Given the description of an element on the screen output the (x, y) to click on. 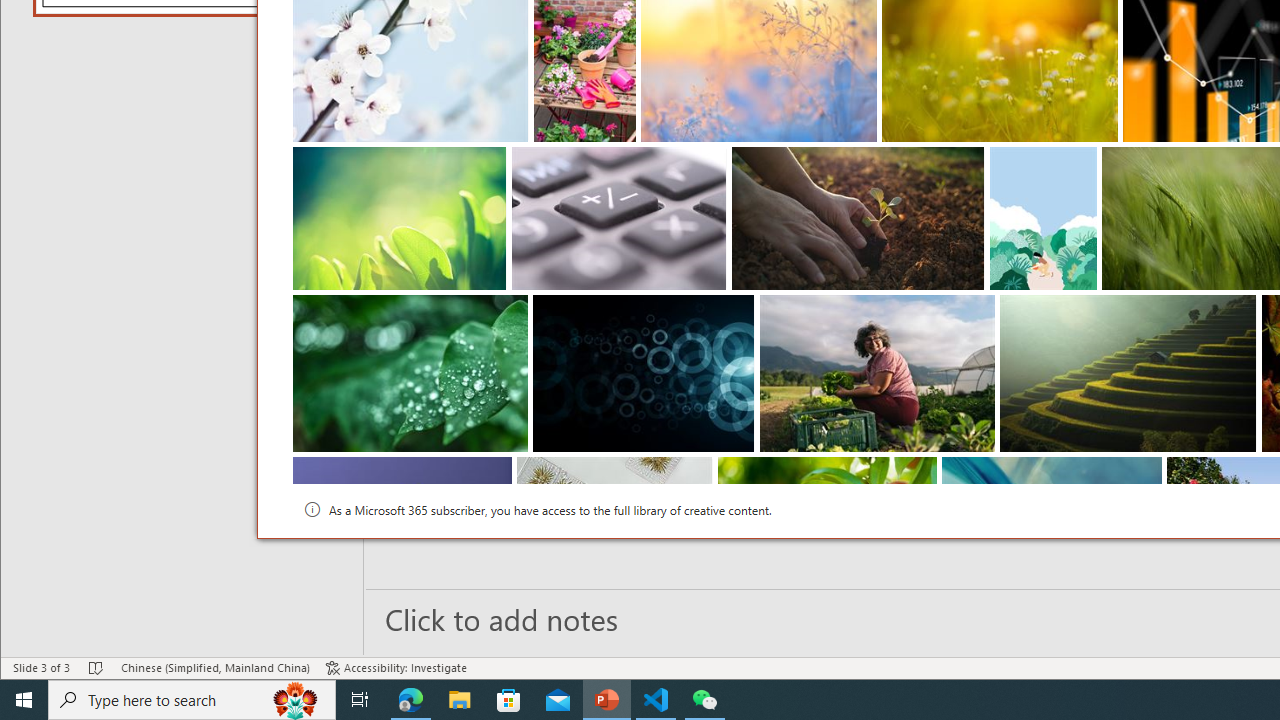
Task View (359, 699)
Start (24, 699)
File Explorer (460, 699)
Microsoft Edge - 1 running window (411, 699)
Search highlights icon opens search home window (295, 699)
